Given the description of an element on the screen output the (x, y) to click on. 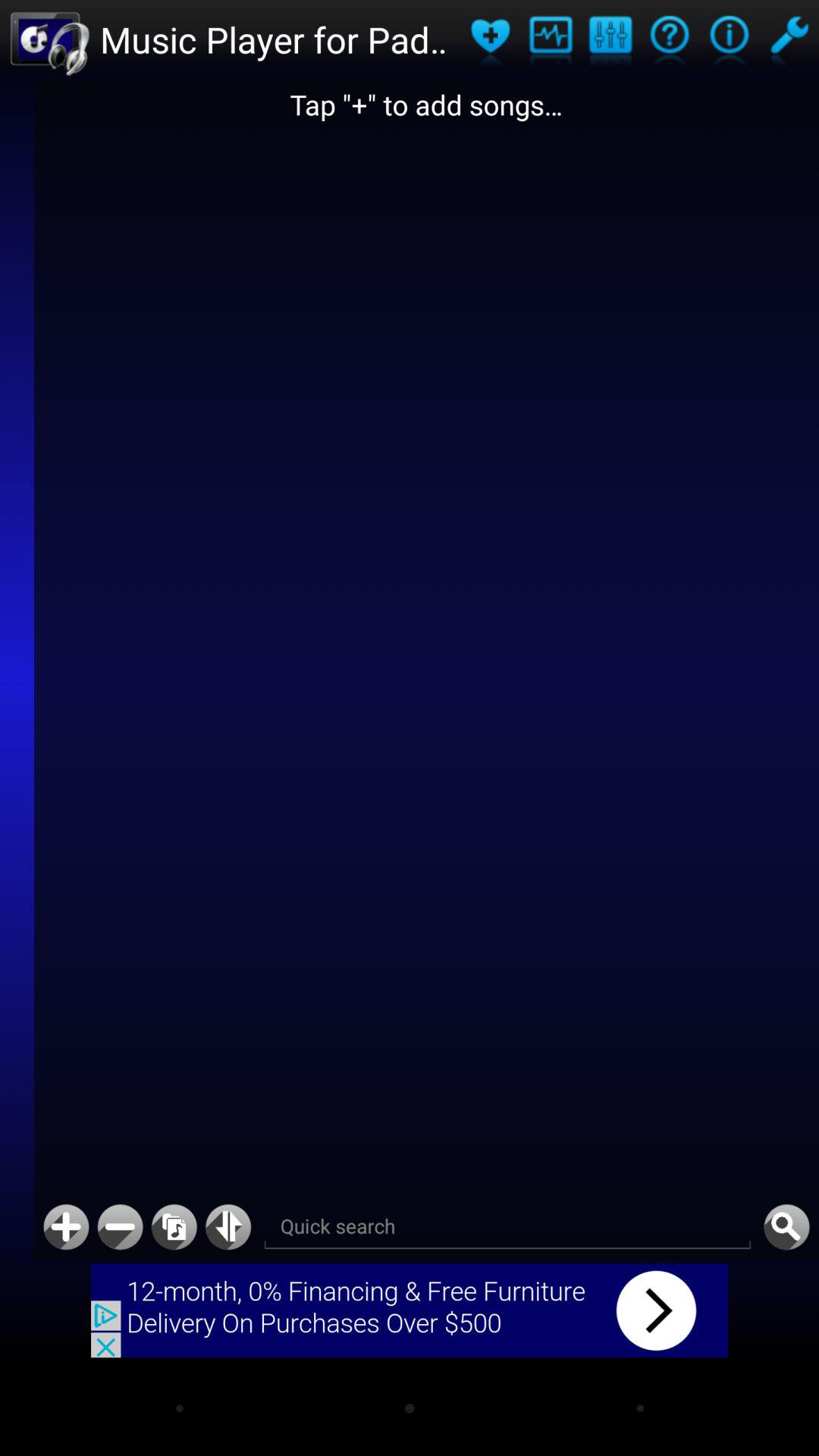
advertisement button (409, 1310)
